Given the description of an element on the screen output the (x, y) to click on. 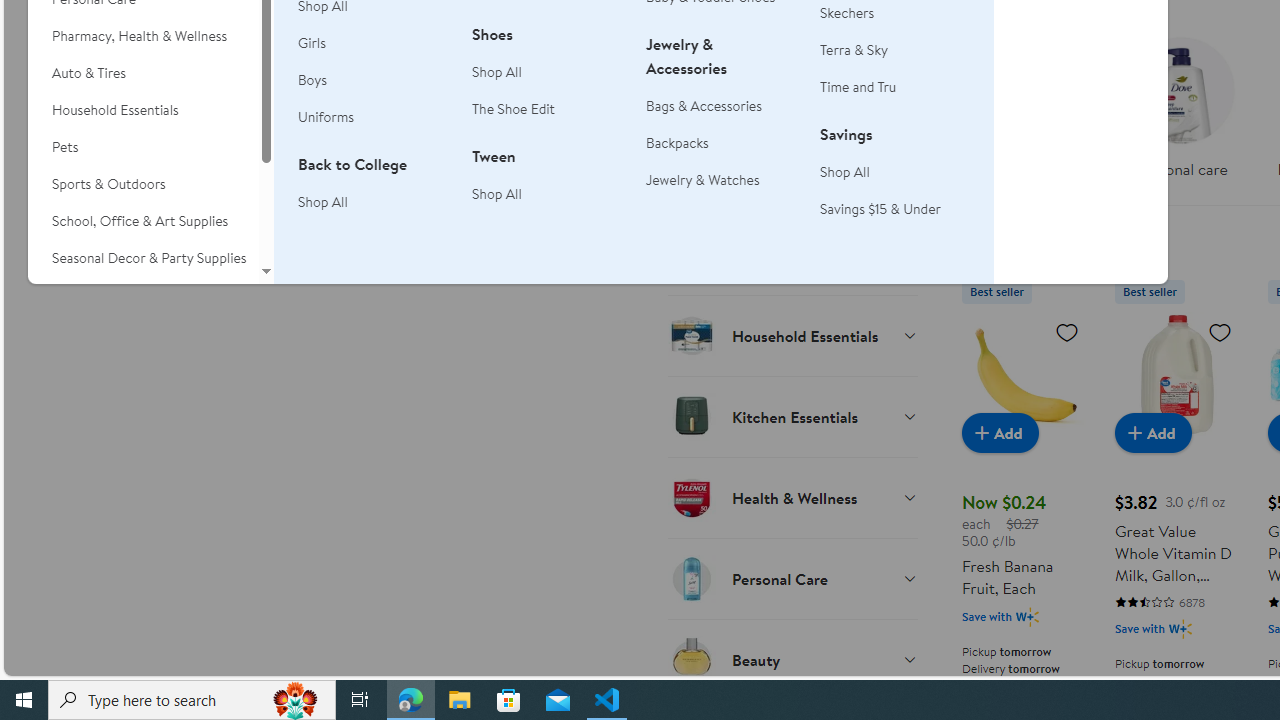
Fresh Banana Fruit, Each (1024, 374)
Household essentials (1023, 114)
Pharmacy, Health & Wellness (143, 36)
Seasonal Decor & Party Supplies (143, 258)
Girls (373, 43)
Household Essentials (143, 110)
Household Essentials (792, 335)
Beauty (792, 659)
Movies, Music & Books (143, 295)
ShoesShop AllThe Shoe Edit (547, 83)
Beverages (792, 92)
